Given the description of an element on the screen output the (x, y) to click on. 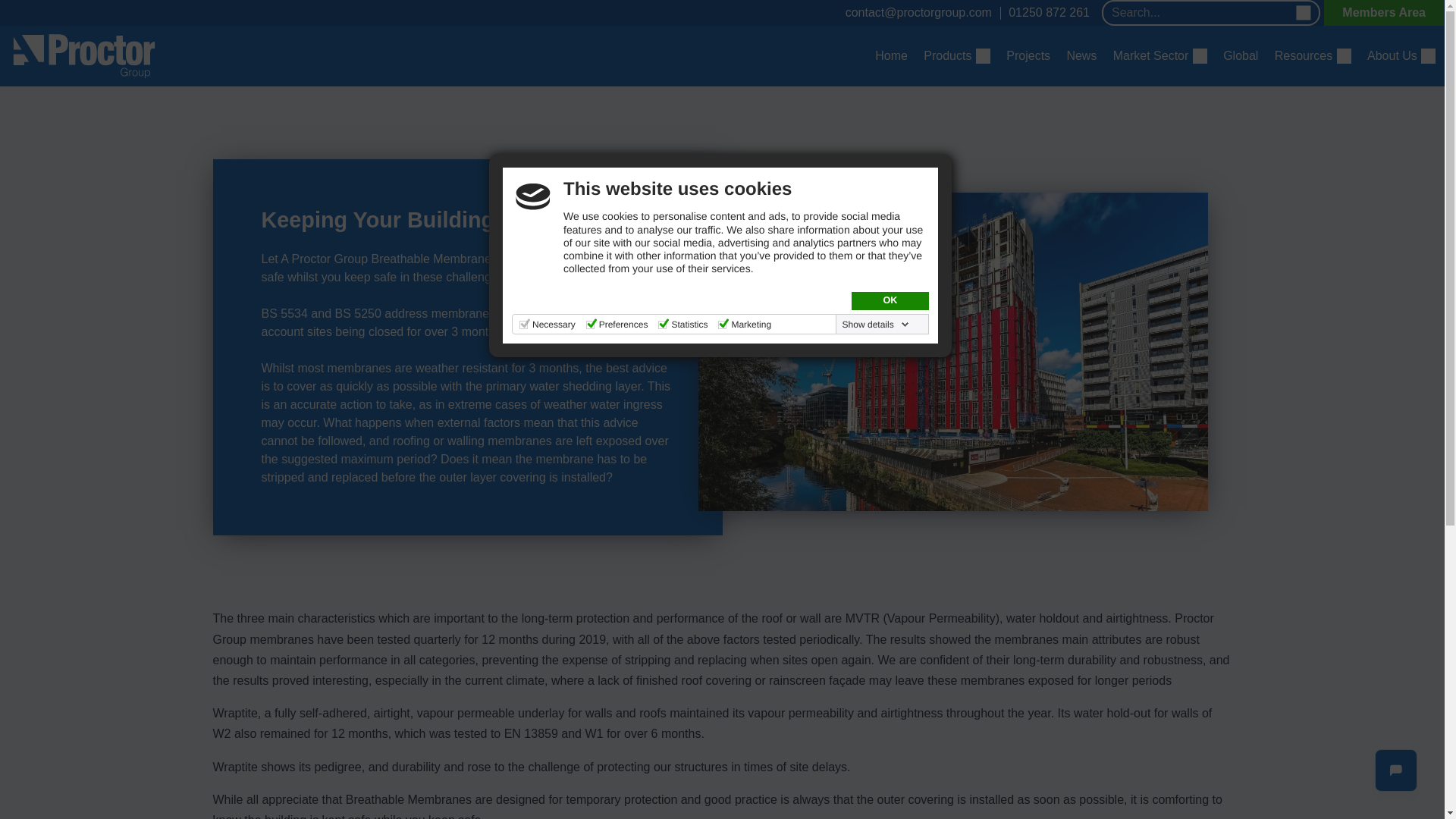
Show details (876, 324)
OK (889, 300)
